Given the description of an element on the screen output the (x, y) to click on. 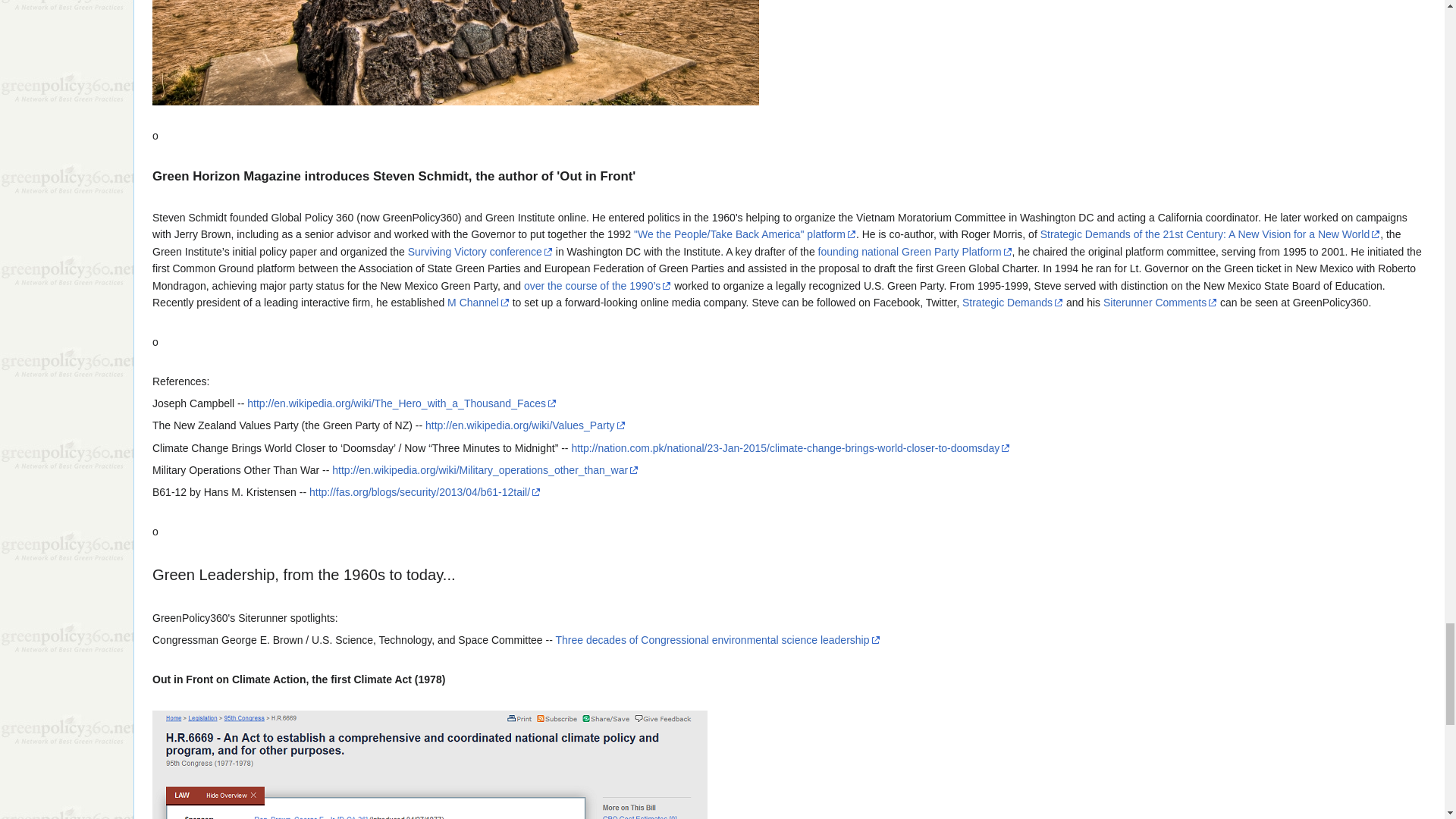
Surviving Victory conference (480, 251)
